Given the description of an element on the screen output the (x, y) to click on. 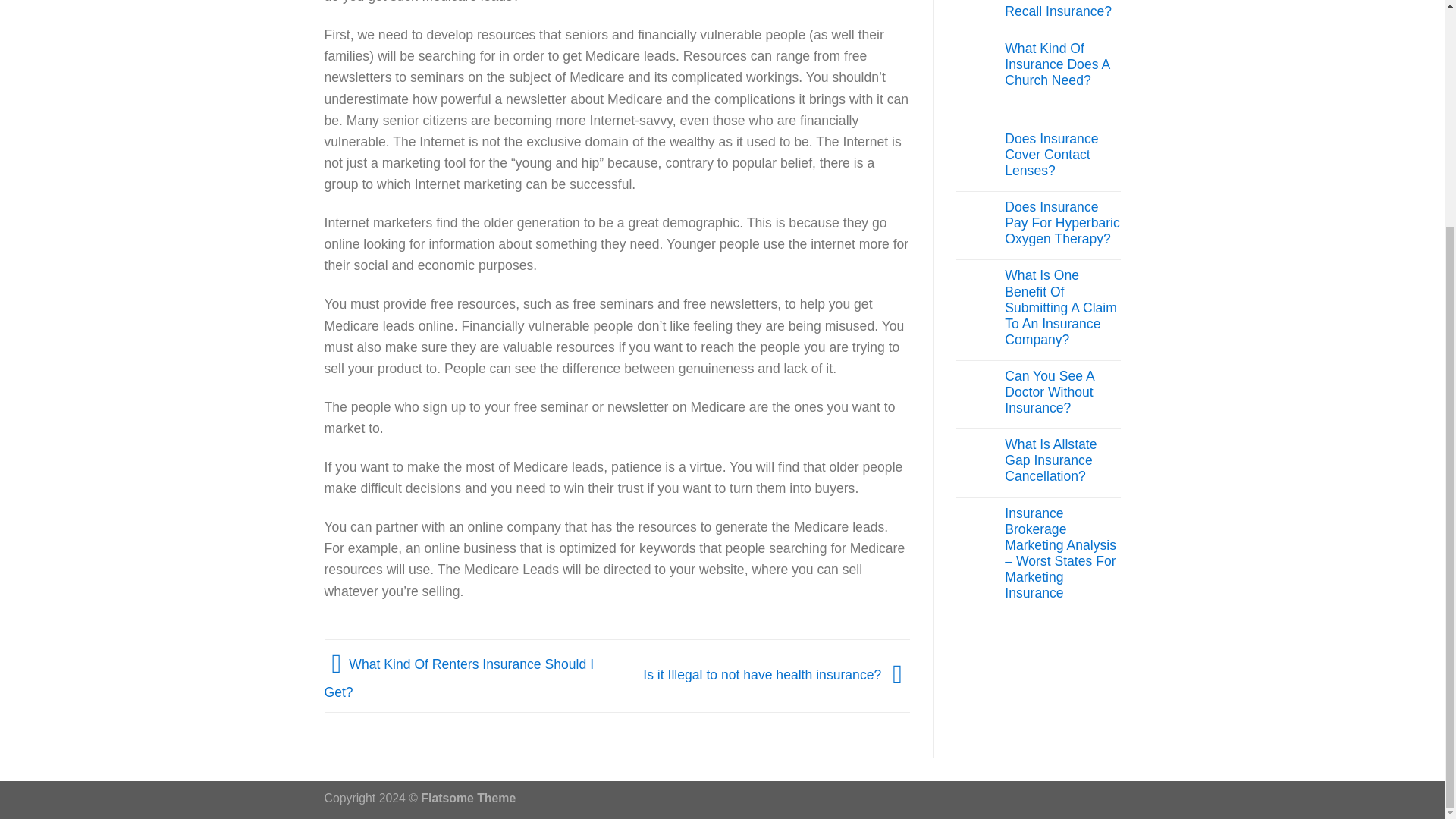
What Kind Of Renters Insurance Should I Get? (459, 677)
What Kind Of Insurance Does A Church Need? (1061, 64)
What Is Allstate Gap Insurance Cancellation? (1061, 460)
Is it Illegal to not have health insurance? (776, 674)
Does Insurance Cover Contact Lenses? (1061, 155)
What Kind Of Insurance Does A Church Need? (1061, 64)
Does Insurance Cover Contact Lenses? (1061, 155)
Does Insurance Pay For Hyperbaric Oxygen Therapy? (1061, 223)
What Is Product Recall Insurance? (1061, 9)
